Given the description of an element on the screen output the (x, y) to click on. 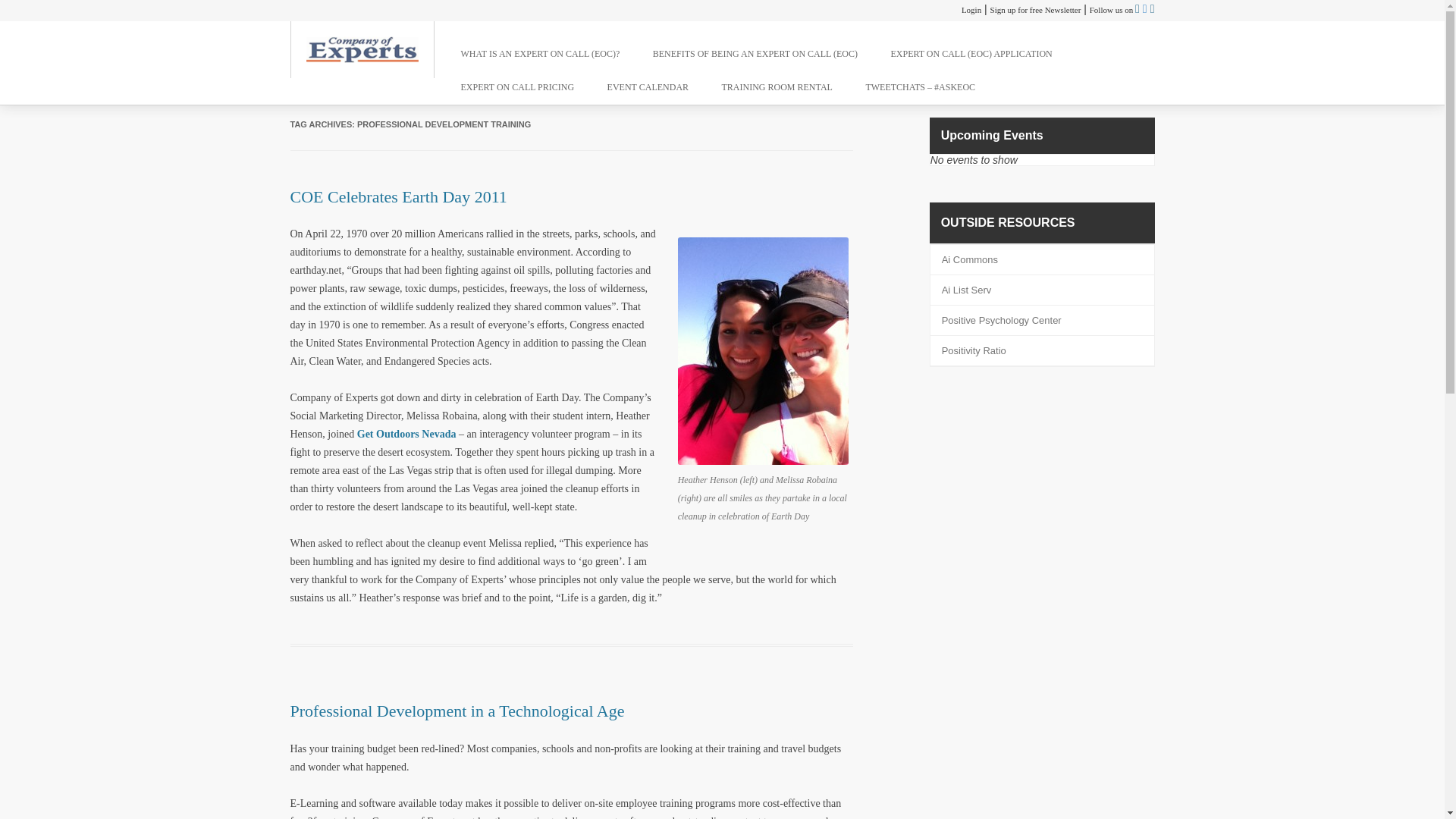
TRAINING ROOM RENTAL (777, 87)
EVENT CALENDAR (647, 87)
Sign up for free Newsletter (1035, 9)
Get Outdoors Nevada (406, 433)
Login (970, 9)
Ai List Serv (966, 289)
COE Celebrates Earth Day 2011 (397, 196)
Professional Development in a Technological Age (456, 710)
Ai Commons (969, 259)
Positivity Ratio (974, 350)
Follow us on (1112, 9)
EXPERT ON CALL PRICING (518, 87)
Positive Psychology Center (1001, 319)
